Given the description of an element on the screen output the (x, y) to click on. 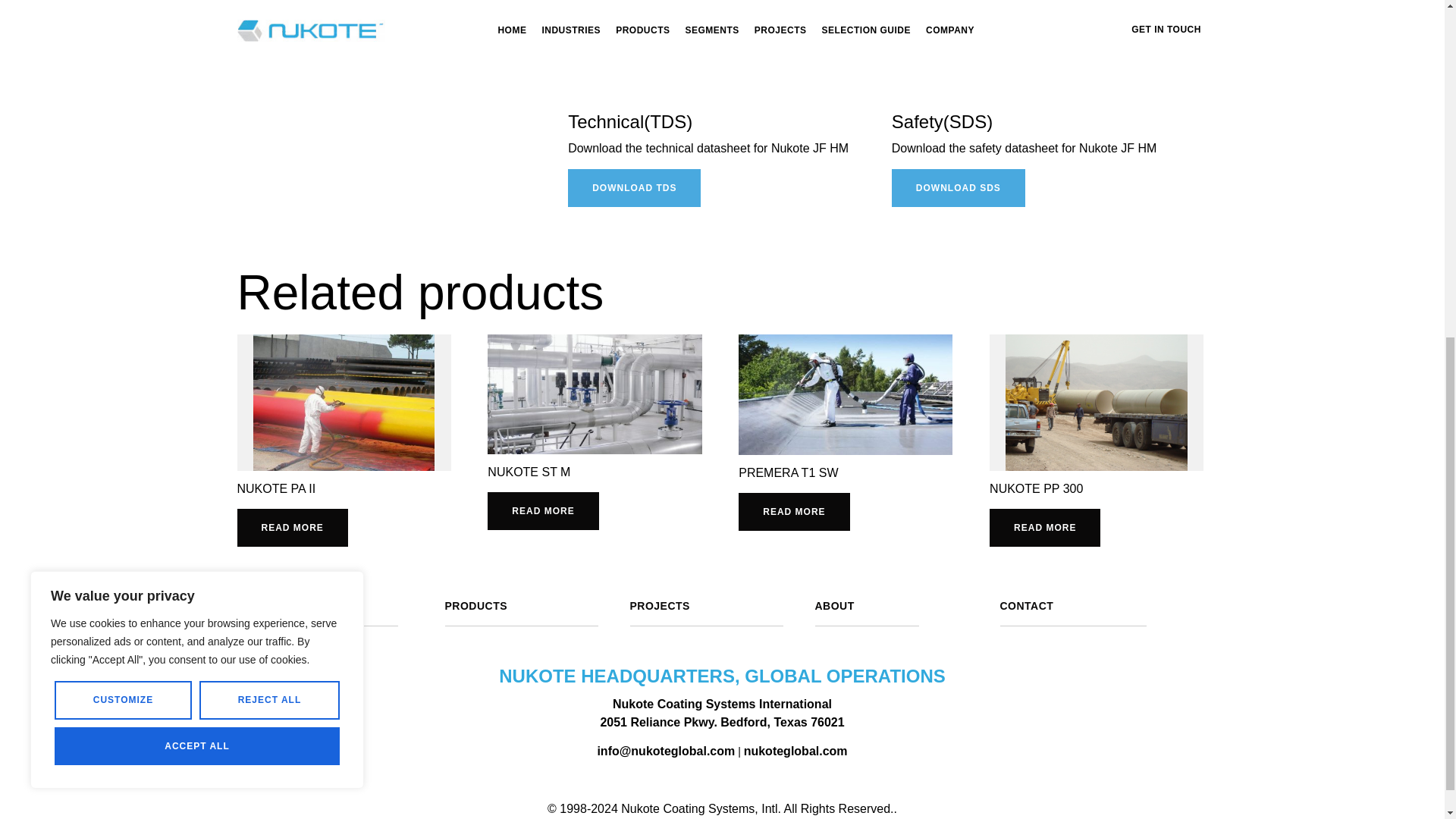
ACCEPT ALL (197, 156)
CUSTOMIZE (123, 109)
REJECT ALL (269, 109)
